Given the description of an element on the screen output the (x, y) to click on. 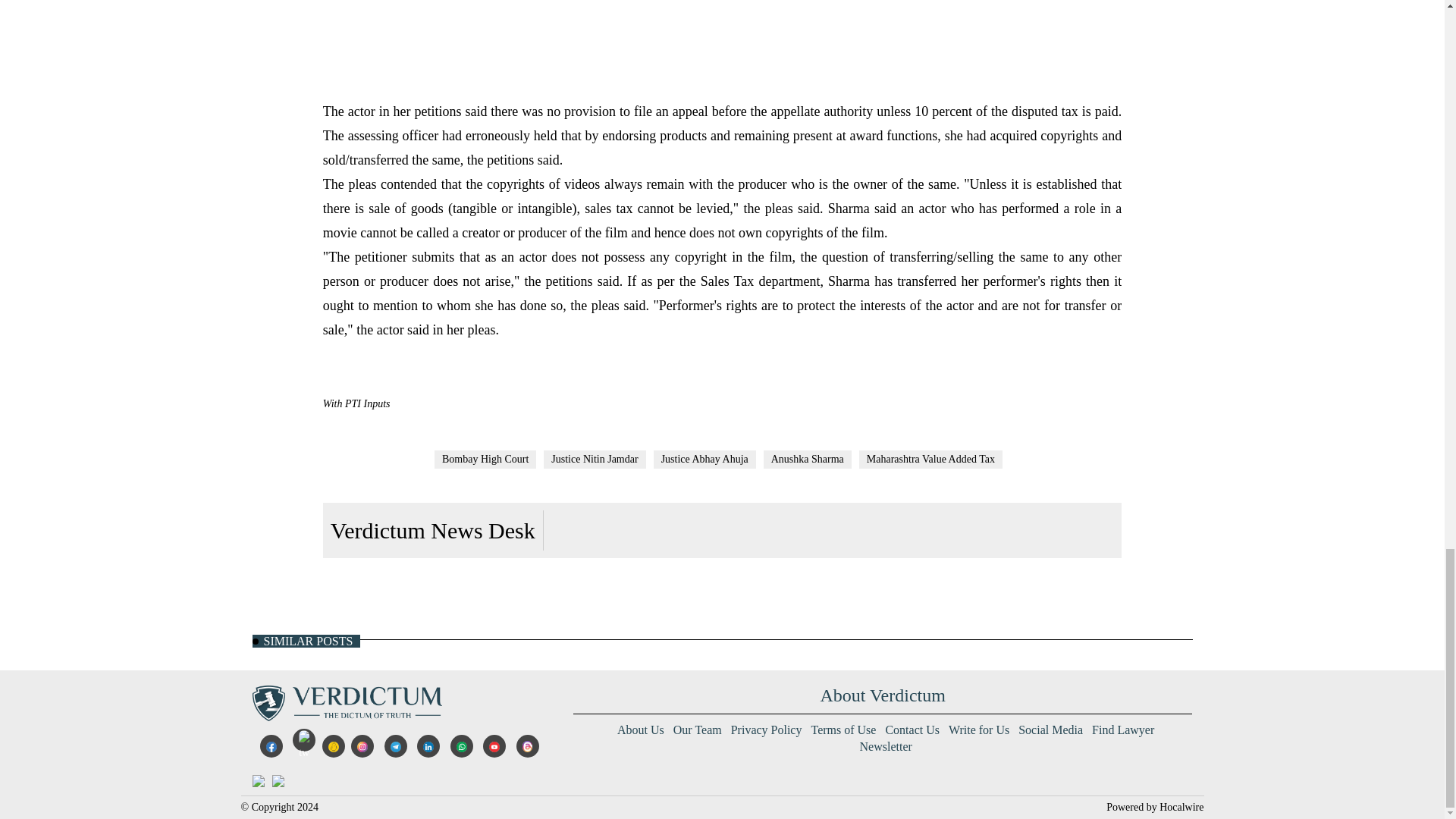
Verdictum (346, 702)
